Given the description of an element on the screen output the (x, y) to click on. 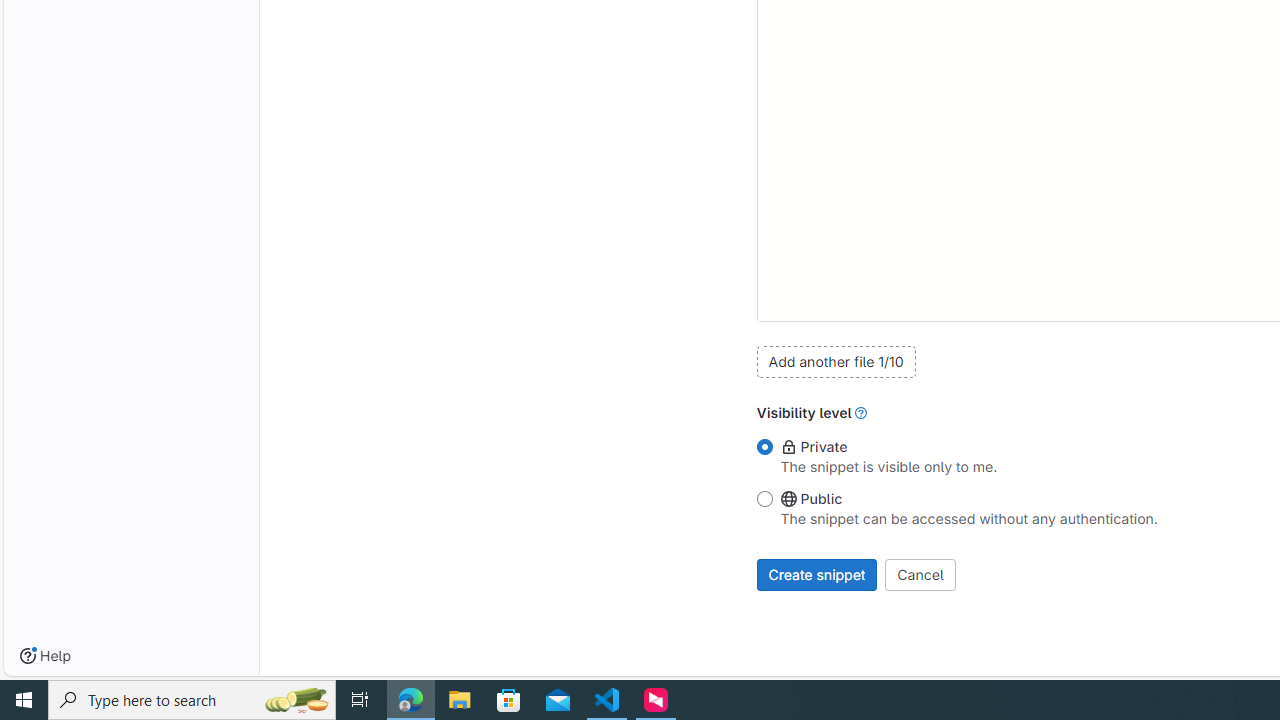
Class: gl-link (861, 412)
Create snippet (817, 574)
Add another file 1/10 (836, 361)
Private The snippet is visible only to me. (764, 448)
Help (45, 655)
Cancel (920, 574)
